Given the description of an element on the screen output the (x, y) to click on. 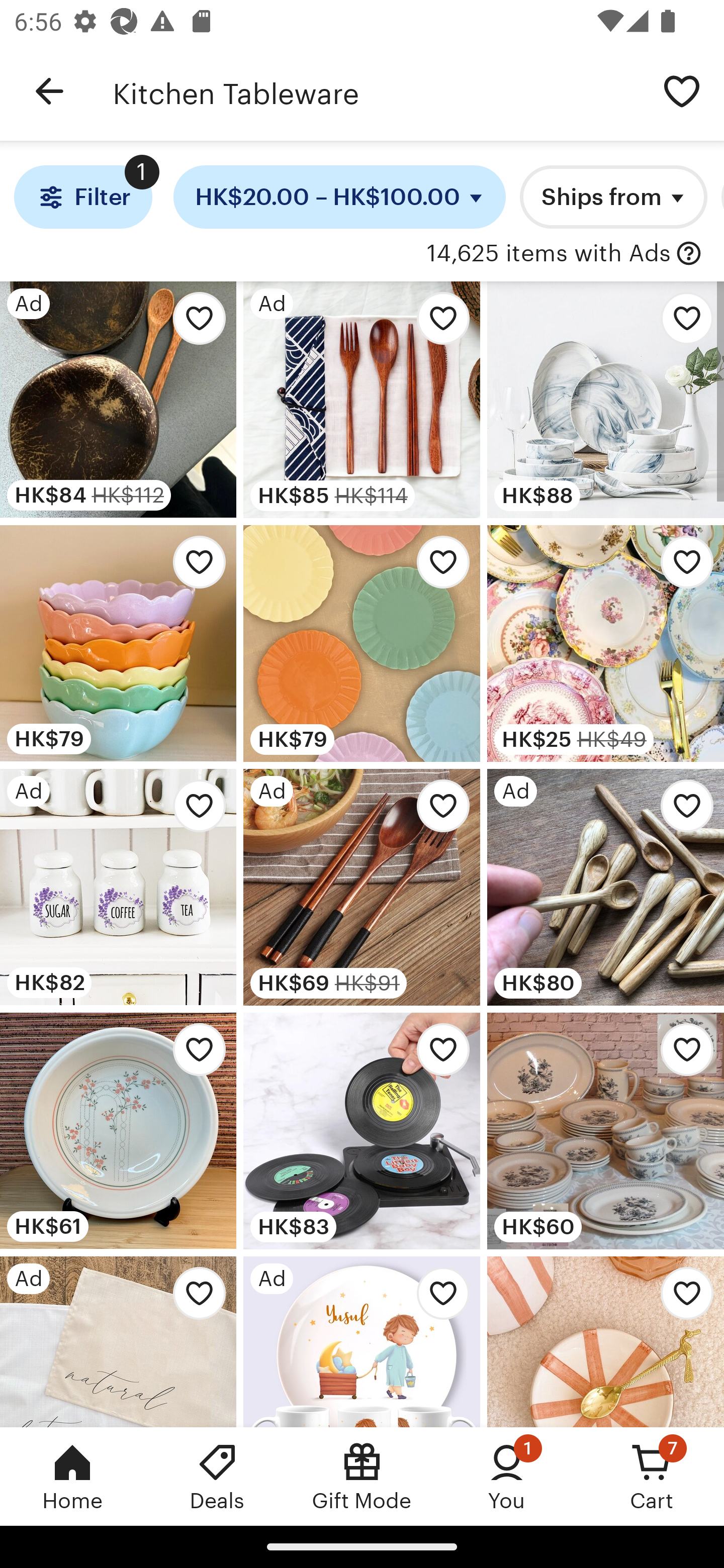
Navigate up (49, 91)
Save search (681, 90)
Kitchen Tableware (375, 91)
Filter (82, 197)
HK$20.00 – HK$100.00 (339, 197)
Ships from (613, 197)
14,625 items with Ads (549, 253)
with Ads (688, 253)
Add Nordic tableware and dish set to favorites (681, 322)
Deals (216, 1475)
Gift Mode (361, 1475)
You, 1 new notification You (506, 1475)
Cart, 7 new notifications Cart (651, 1475)
